Given the description of an element on the screen output the (x, y) to click on. 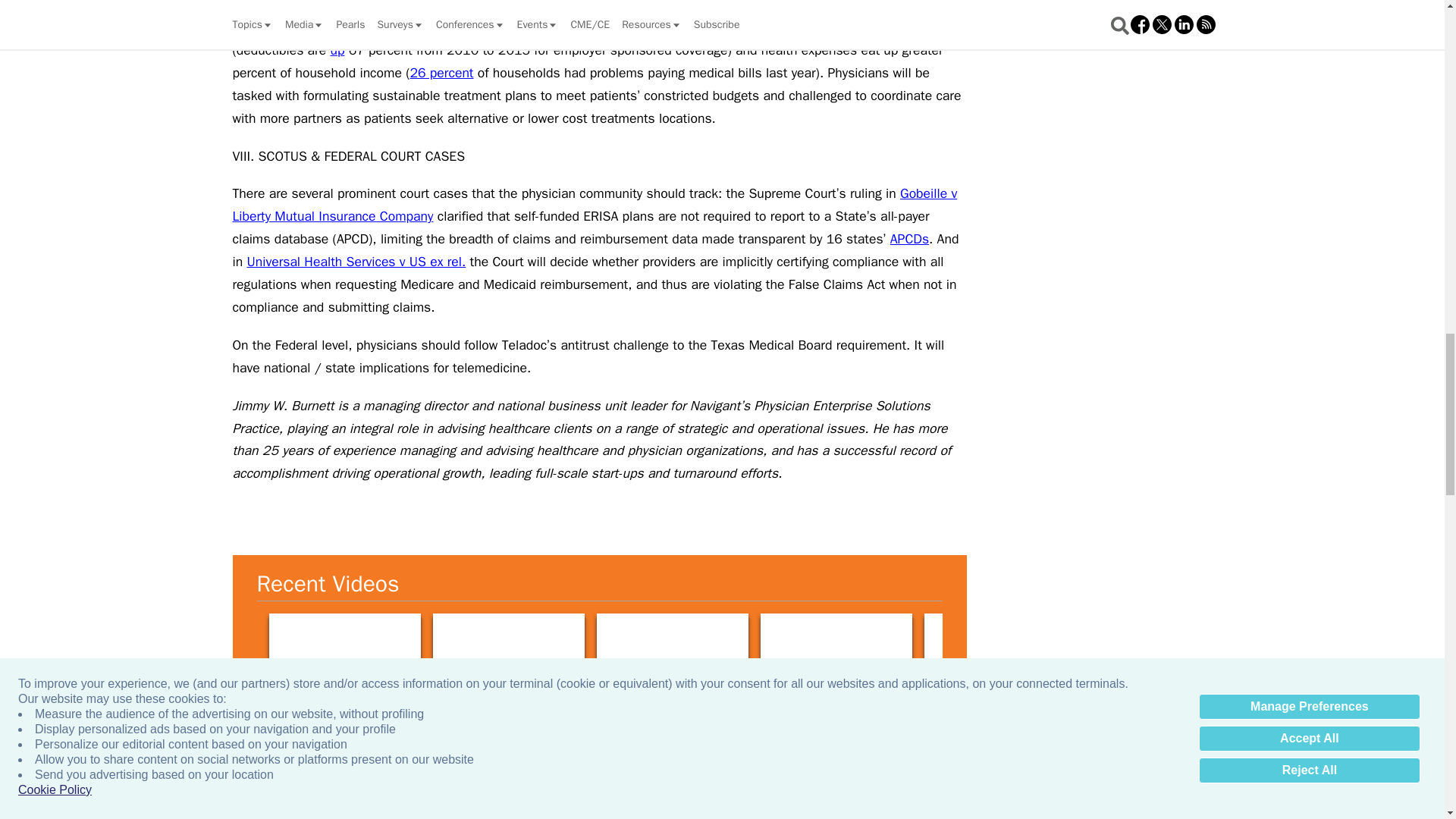
David Cohen gives expert advice (999, 656)
Dana Sterling gives expert advice (671, 656)
Leveraging data to mitigate medical malpractice (317, 817)
Dana Sterling gives expert advice  (835, 656)
David Cohen gives expert advice (1163, 656)
David Cohen gives expert advice (1326, 656)
